Given the description of an element on the screen output the (x, y) to click on. 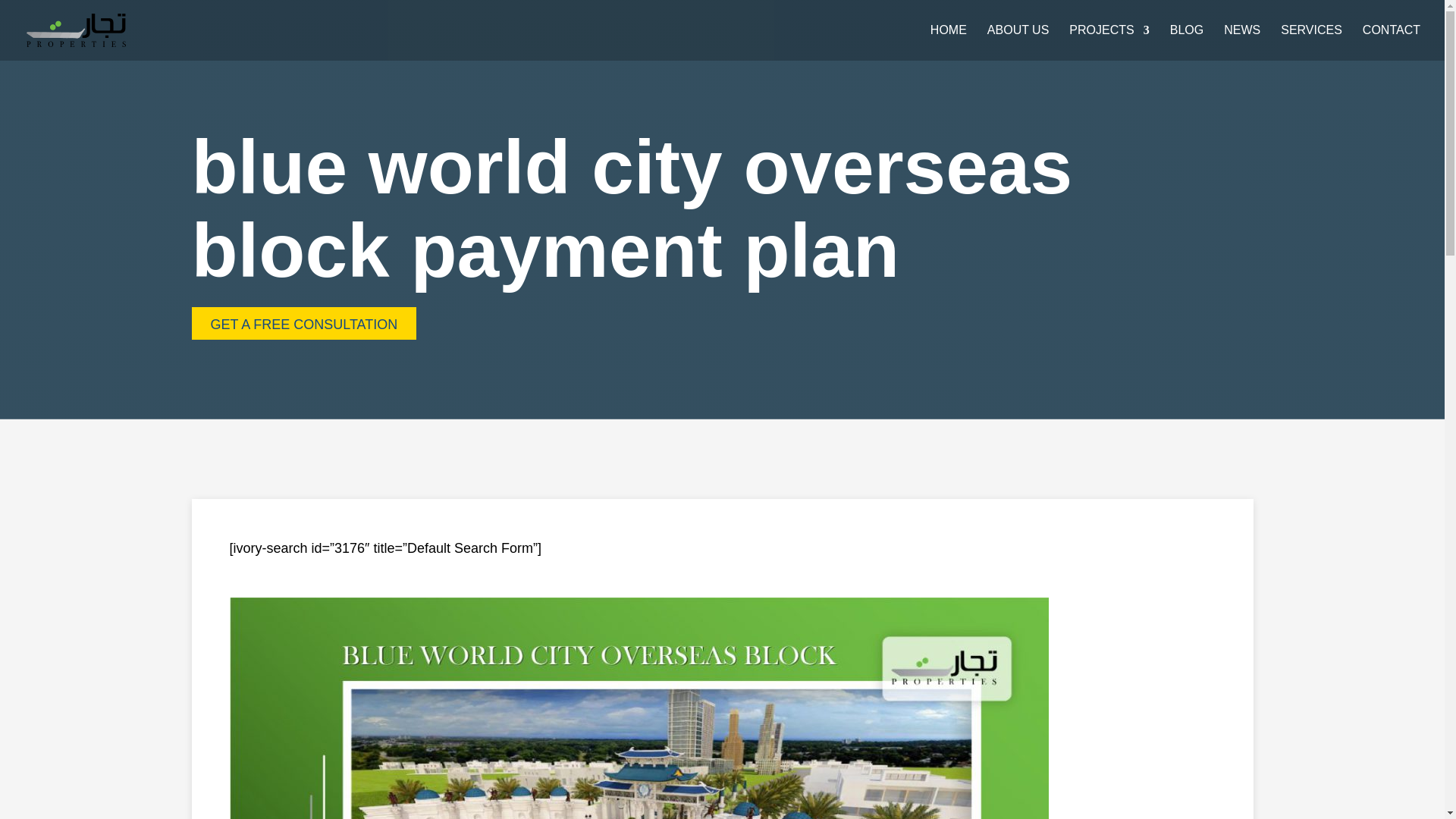
NEWS (1242, 42)
CONTACT (1391, 42)
ABOUT US (1018, 42)
PROJECTS (1108, 42)
GET A FREE CONSULTATION (303, 323)
SERVICES (1311, 42)
BLOG (1187, 42)
HOME (948, 42)
